Given the description of an element on the screen output the (x, y) to click on. 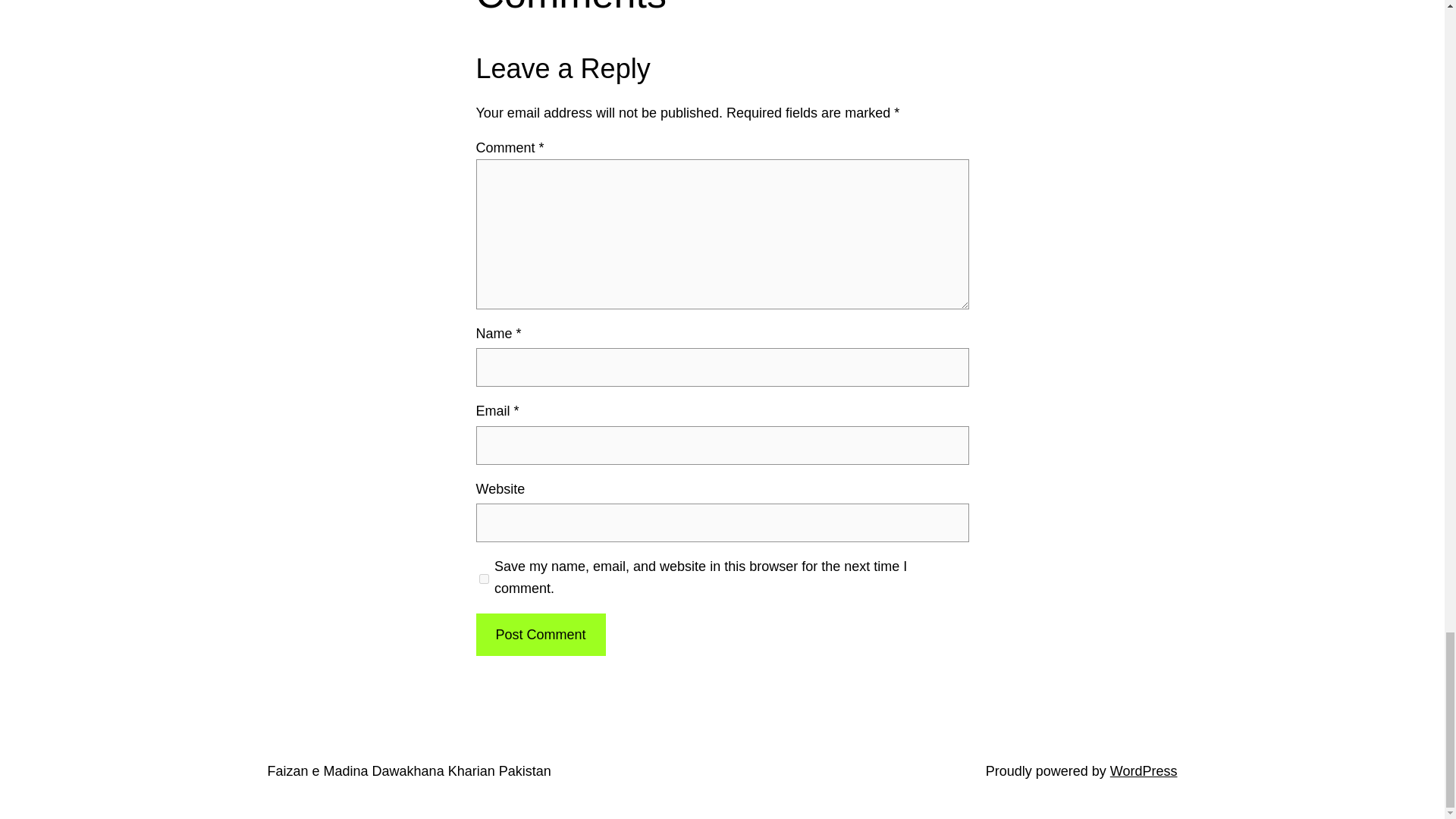
Post Comment (540, 634)
WordPress (1143, 770)
Faizan e Madina Dawakhana Kharian Pakistan (408, 770)
Post Comment (540, 634)
yes (484, 578)
